Given the description of an element on the screen output the (x, y) to click on. 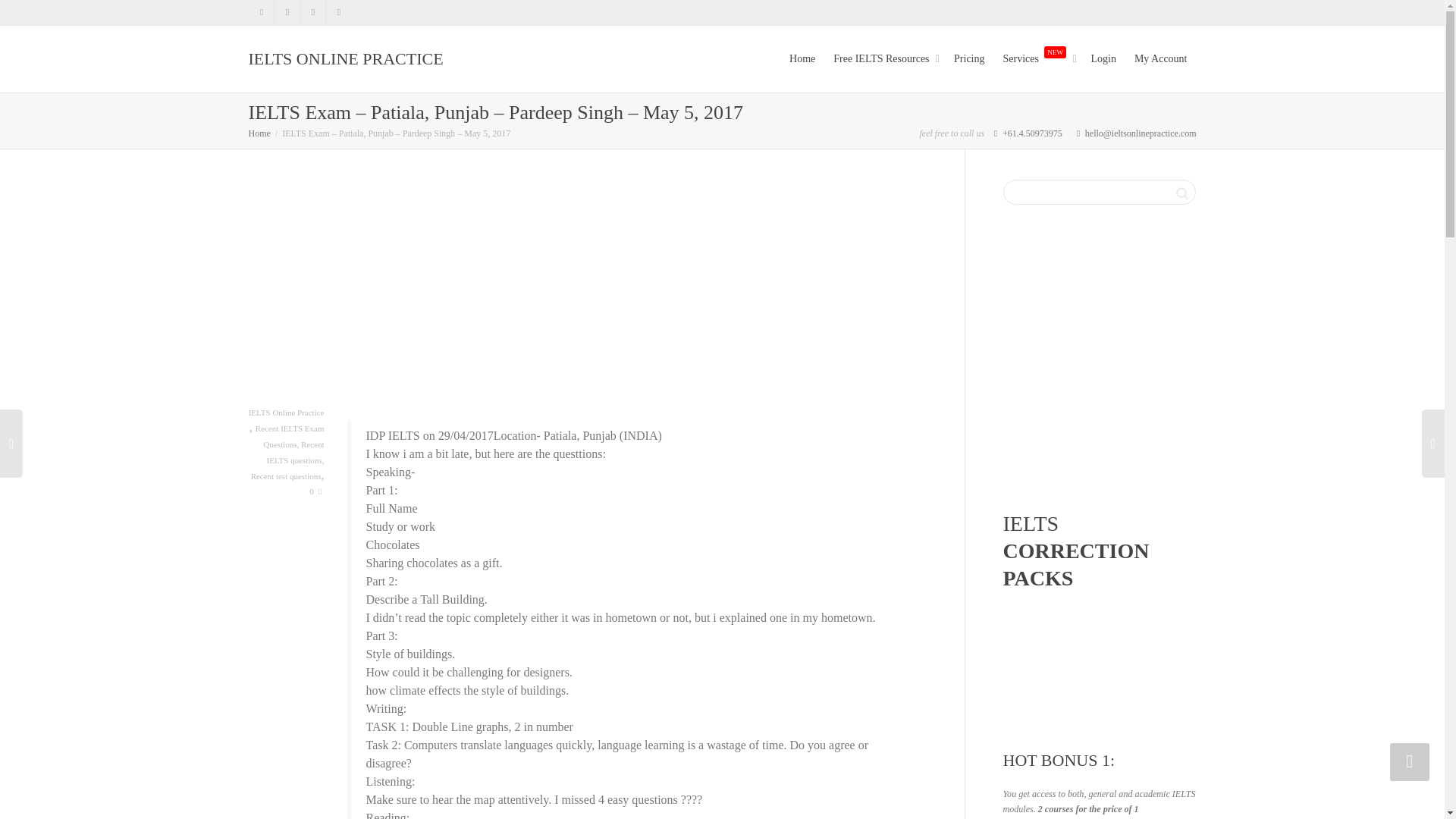
IELTS Online Practice (286, 412)
0 (315, 491)
IELTS ONLINE PRACTICE (259, 132)
Search (1181, 192)
Services NEW (1037, 59)
Services NEW (1037, 59)
Home (259, 132)
Search (1181, 192)
Free IELTS Resources (884, 58)
View all POSTS by IELTS Online Practice (286, 412)
Recent IELTS questions (295, 452)
Free IELTS Resources (884, 58)
Recent test questions (285, 475)
Recent IELTS Exam Questions (290, 436)
IELTS ONLINE PRACTICE (346, 58)
